Given the description of an element on the screen output the (x, y) to click on. 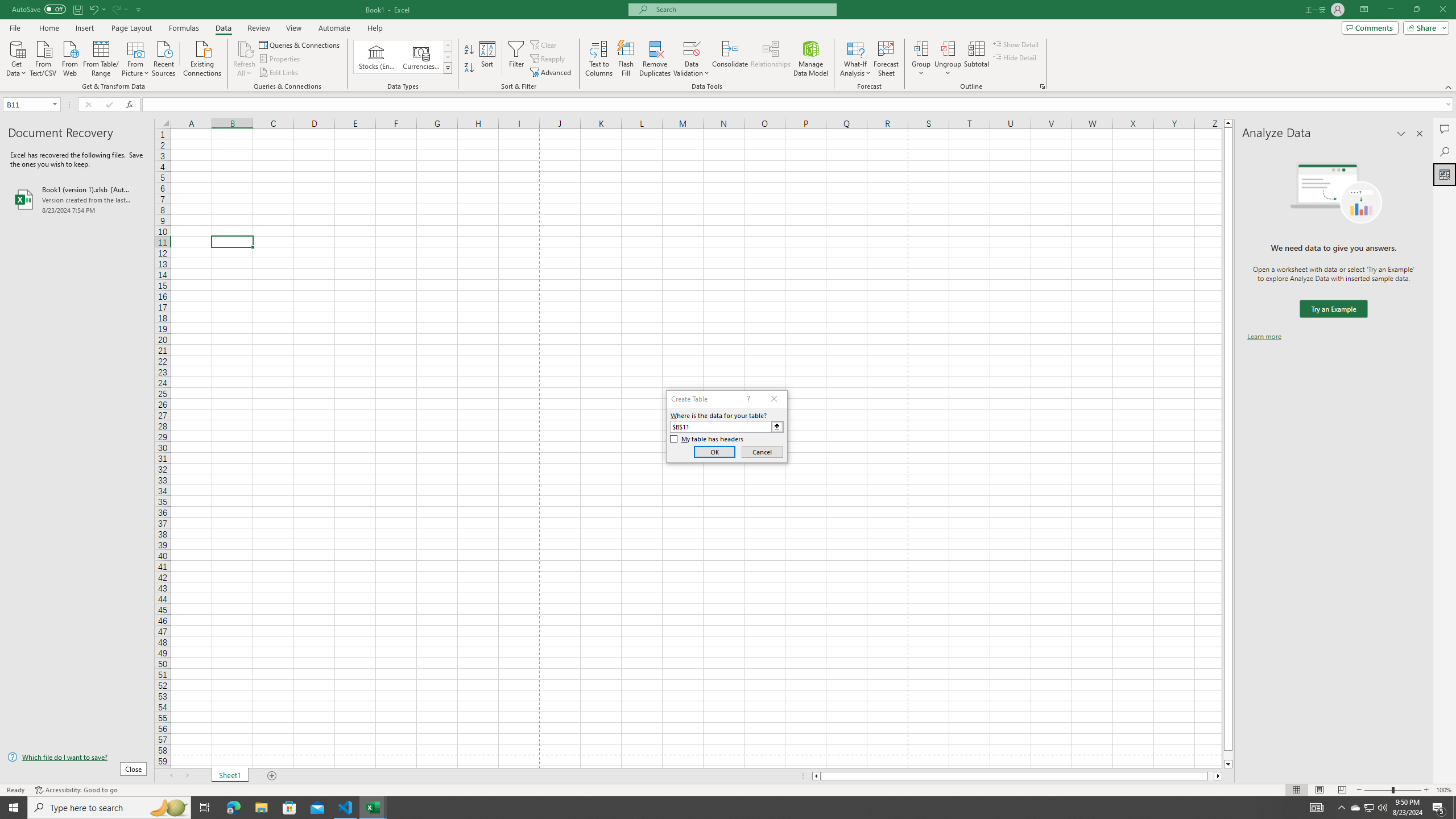
Clear (544, 44)
